Given the description of an element on the screen output the (x, y) to click on. 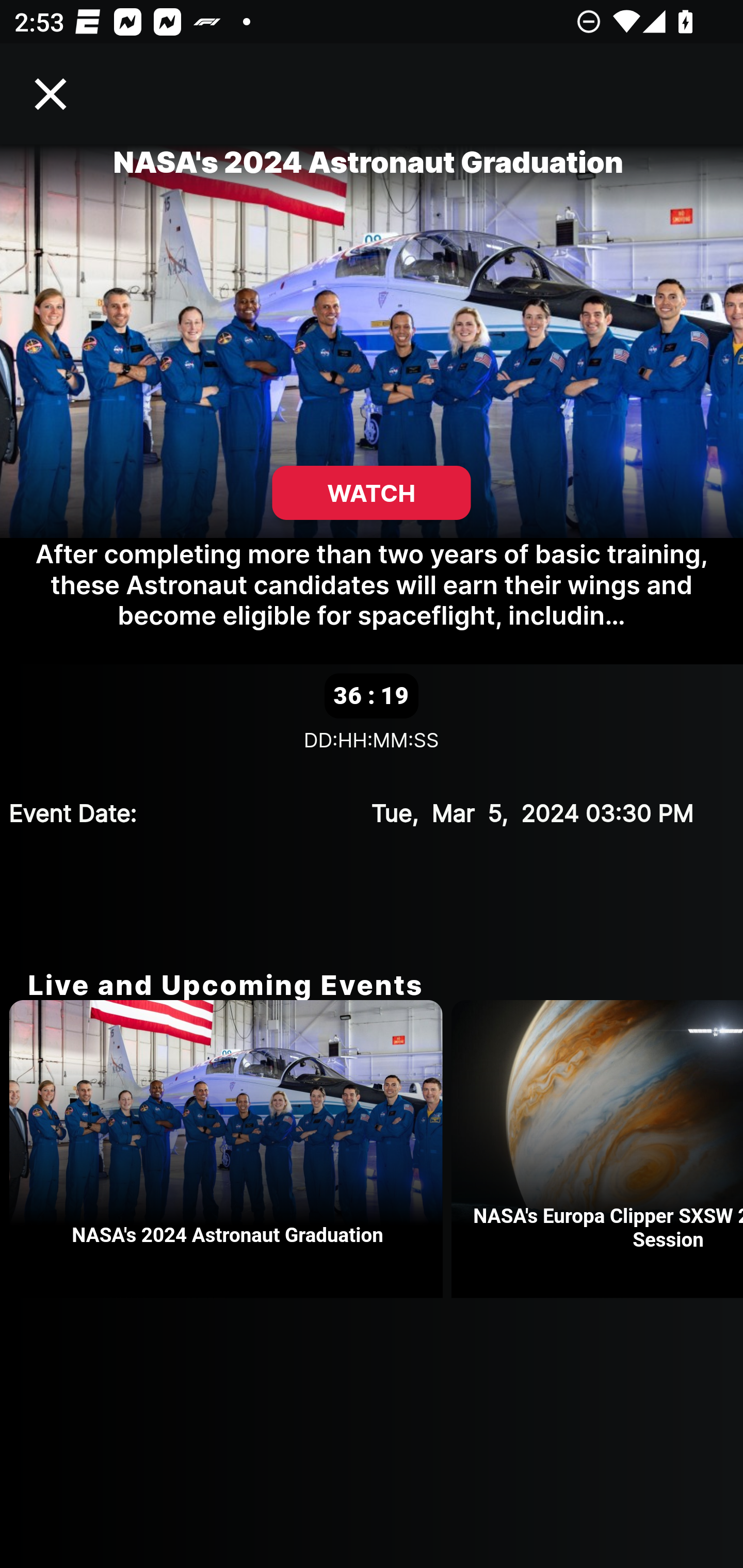
WATCH (371, 492)
NASA's 2024 Astronaut Graduation (229, 1149)
NASA's Europa Clipper SXSW 2024 Opening Session (597, 1149)
